Given the description of an element on the screen output the (x, y) to click on. 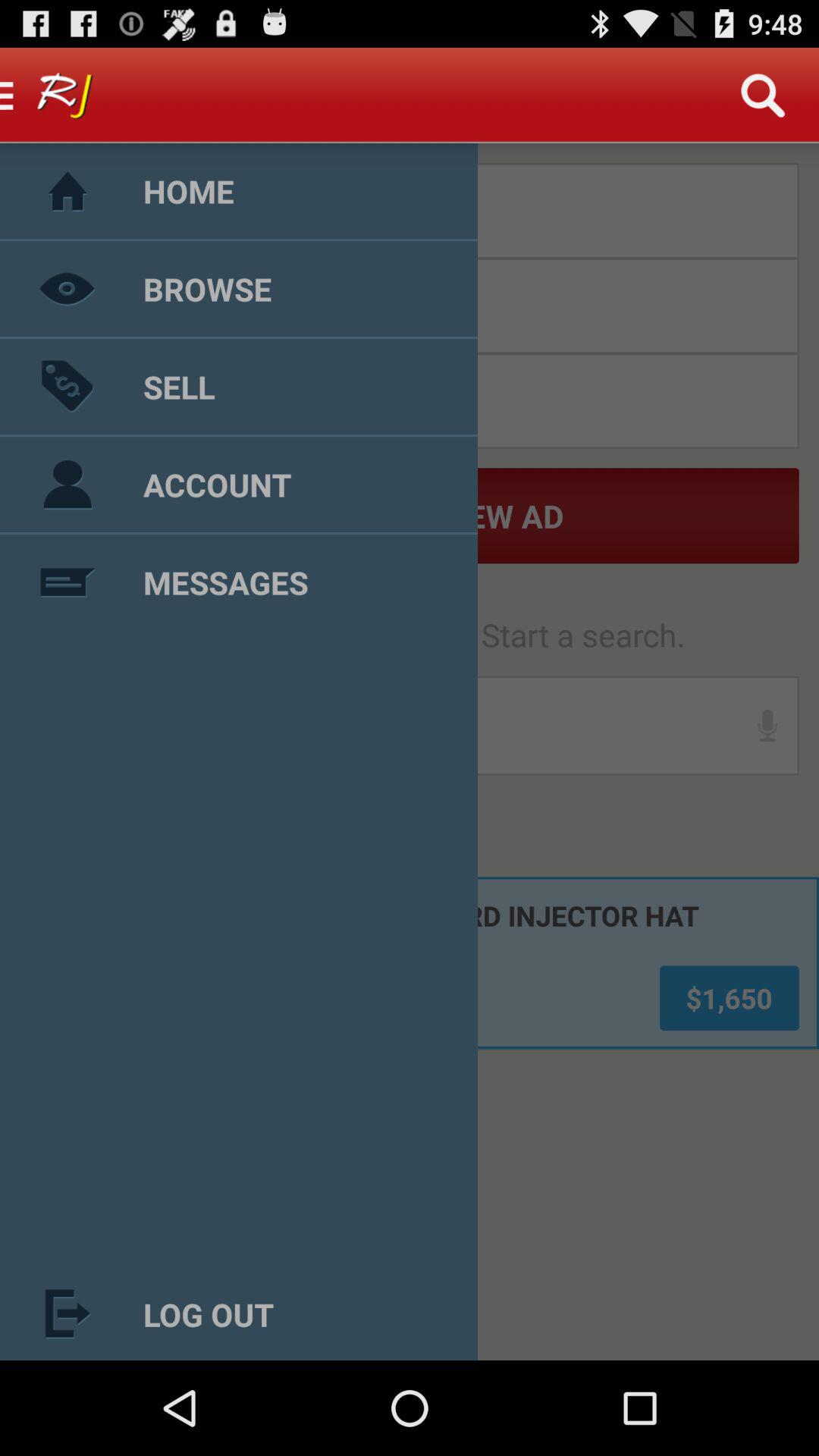
click on search icon on the top right of the web page (763, 95)
